Given the description of an element on the screen output the (x, y) to click on. 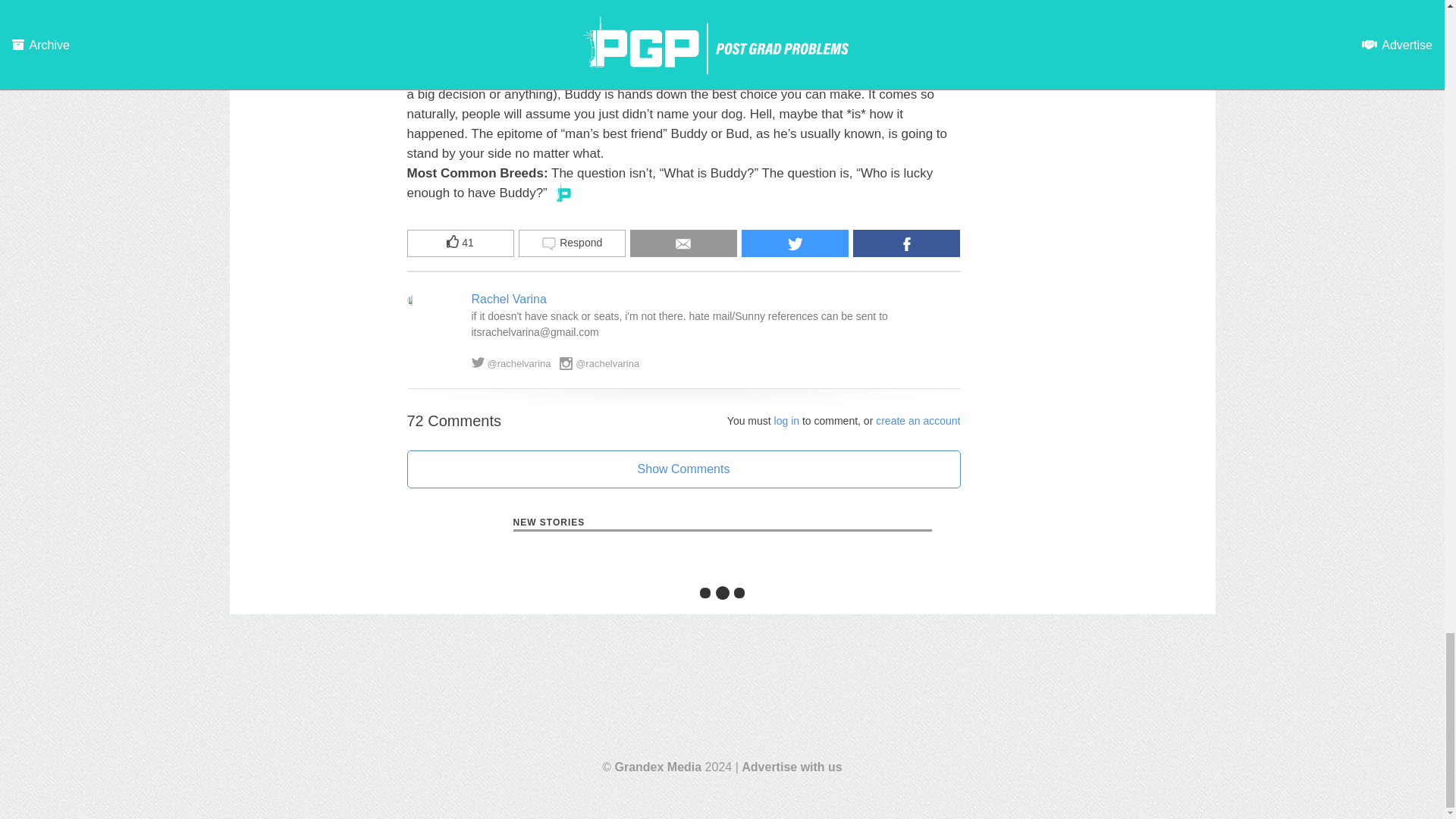
Create an Account (917, 420)
log in (786, 420)
41 (459, 243)
create an account (917, 420)
Login (786, 420)
Respond (572, 243)
NEW STORIES (721, 523)
Rachel Varina (509, 297)
